Given the description of an element on the screen output the (x, y) to click on. 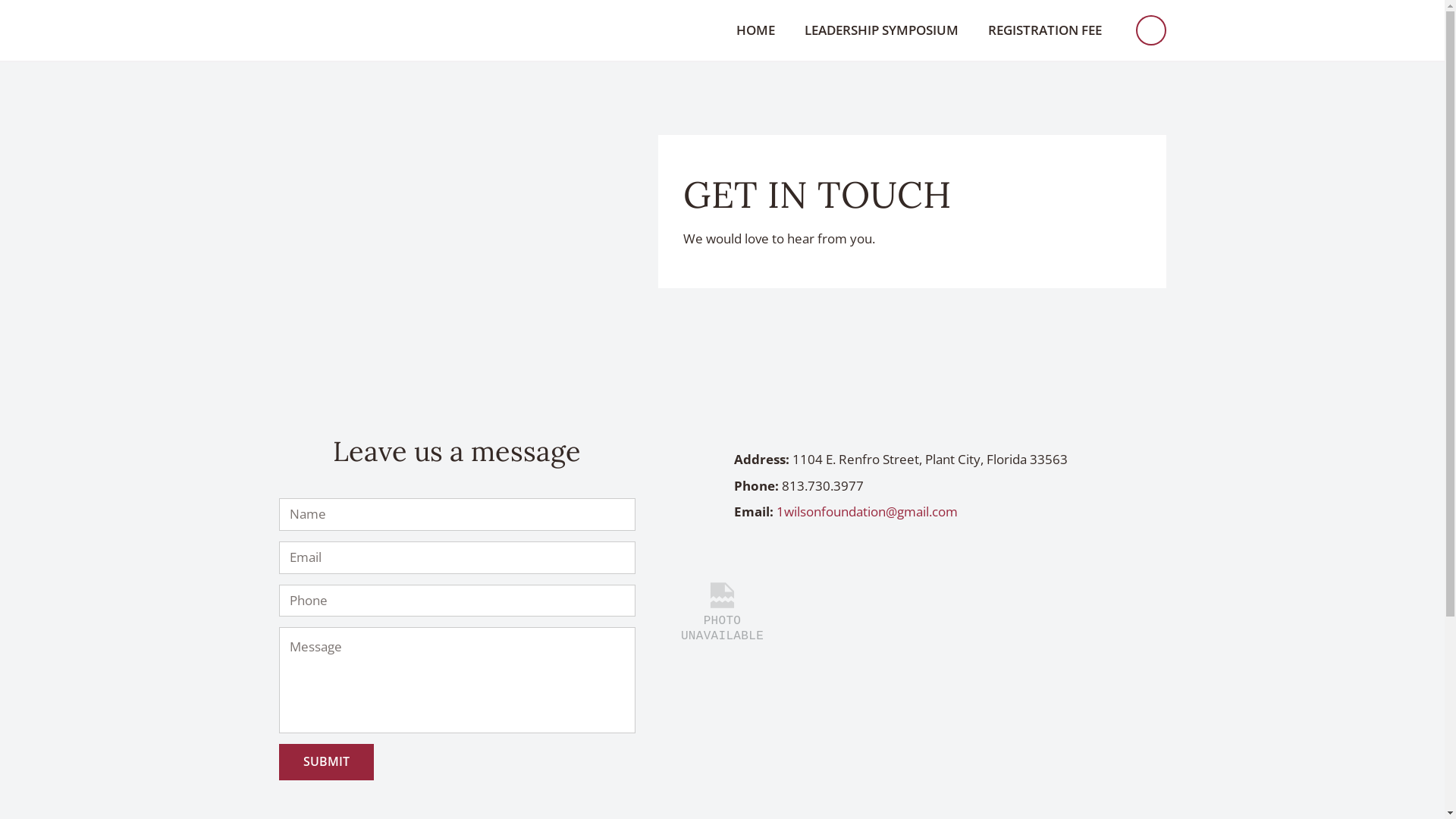
813.730.3977 Element type: text (821, 485)
1wilsonfoundation@gmail.com Element type: text (866, 511)
SUBMIT Element type: text (326, 761)
REGISTRATION FEE Element type: text (1044, 29)
HOME Element type: text (754, 29)
LEADERSHIP SYMPOSIUM Element type: text (881, 29)
